Given the description of an element on the screen output the (x, y) to click on. 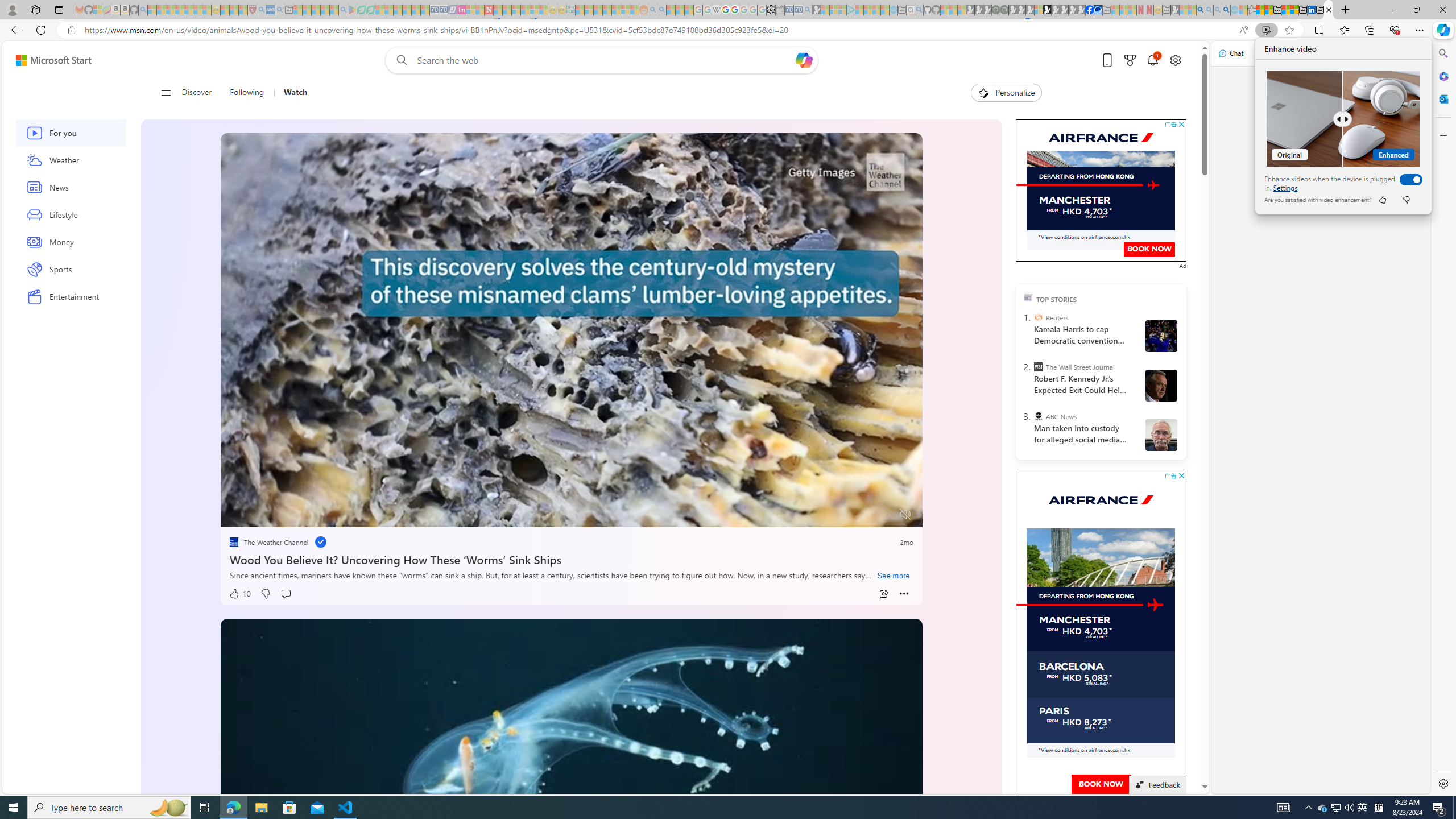
MSNBC - MSN - Sleeping (579, 9)
Show desktop (1454, 807)
Personalize (1335, 807)
Start (1006, 92)
Cheap Hotels - Save70.com - Sleeping (13, 807)
Latest Politics News & Archive | Newsweek.com - Sleeping (442, 9)
